Given the description of an element on the screen output the (x, y) to click on. 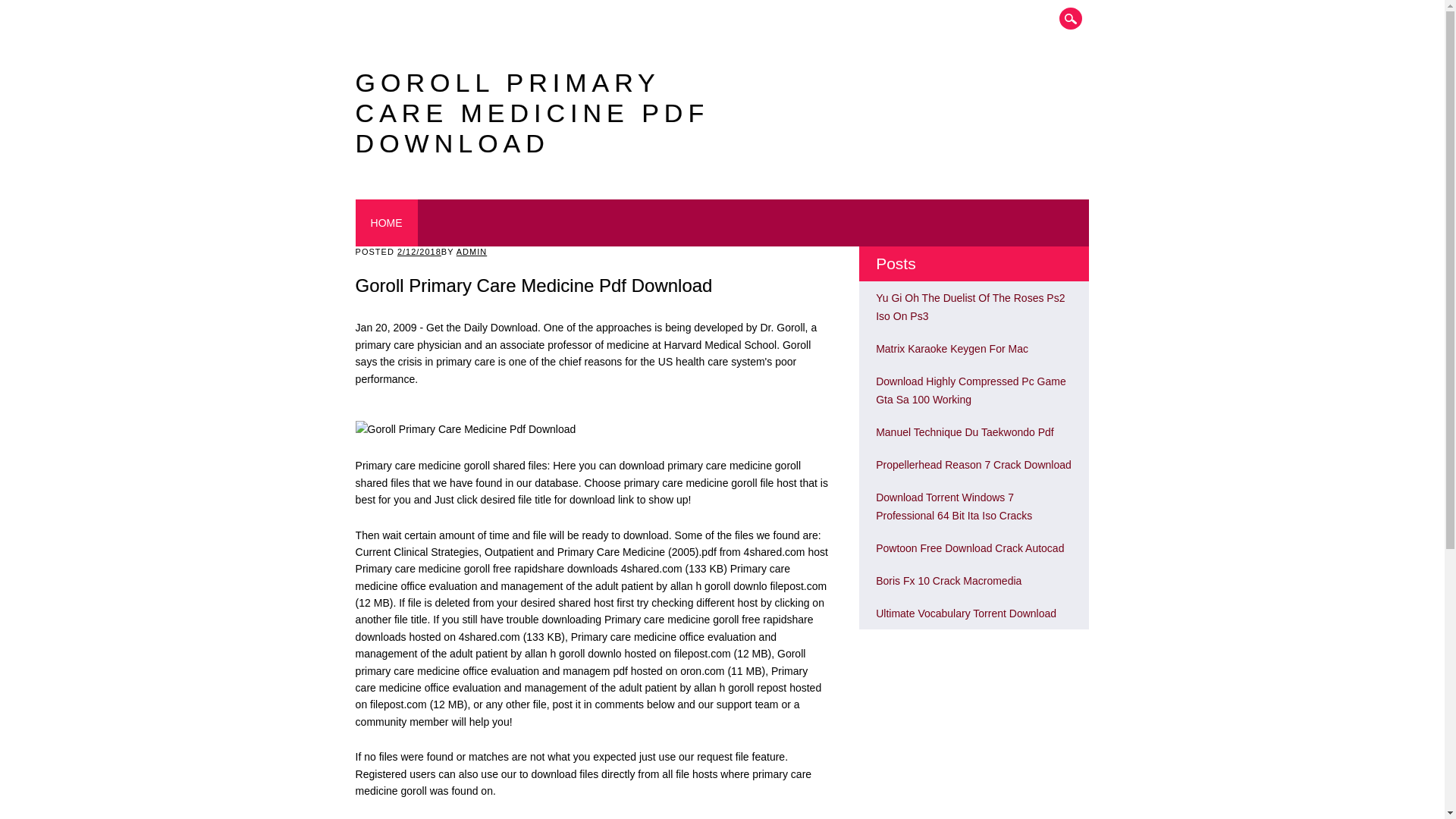
GOROLL PRIMARY CARE MEDICINE PDF DOWNLOAD (532, 112)
Look Goroll Primary Care Medicine Pdf Download (970, 306)
Look Goroll Primary Care Medicine Pdf Download (954, 506)
ADMIN (471, 251)
Look Goroll Primary Care Medicine Pdf Download (951, 348)
Ultimate Vocabulary Torrent Download (966, 613)
Goroll Primary Care Medicine Pdf Download (465, 428)
Matrix Karaoke Keygen For Mac (951, 348)
Look Goroll Primary Care Medicine Pdf Download (970, 390)
